Given the description of an element on the screen output the (x, y) to click on. 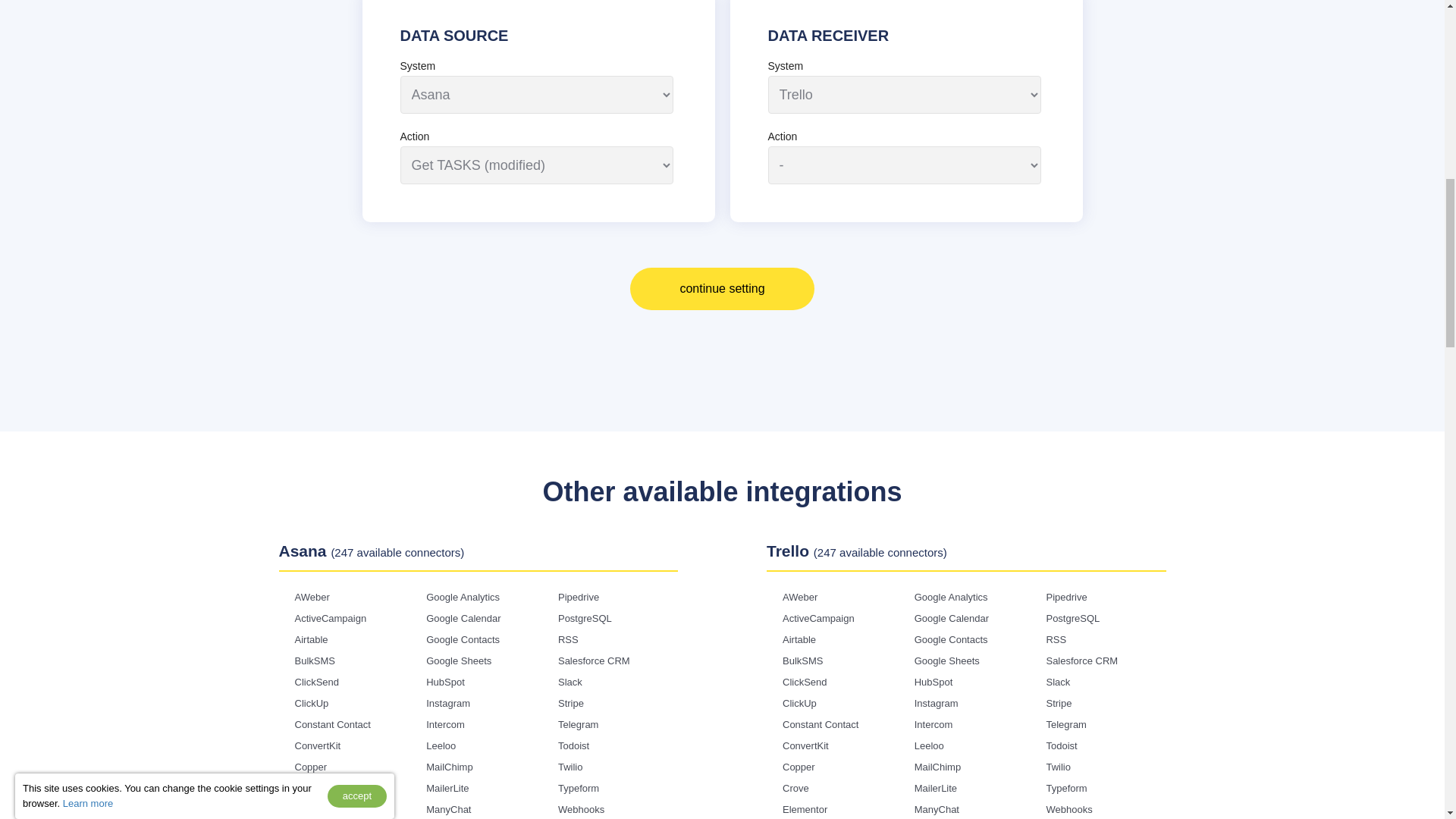
Asana and Google Analytics integration (462, 596)
PostgreSQL (584, 618)
Asana and Google Calendar integration (463, 618)
Asana and ActiveCampaign integration (330, 618)
AWeber (311, 596)
Google Analytics (462, 596)
Google Contacts (462, 639)
RSS (567, 639)
Asana and AWeber integration (311, 596)
continue setting (721, 288)
